Given the description of an element on the screen output the (x, y) to click on. 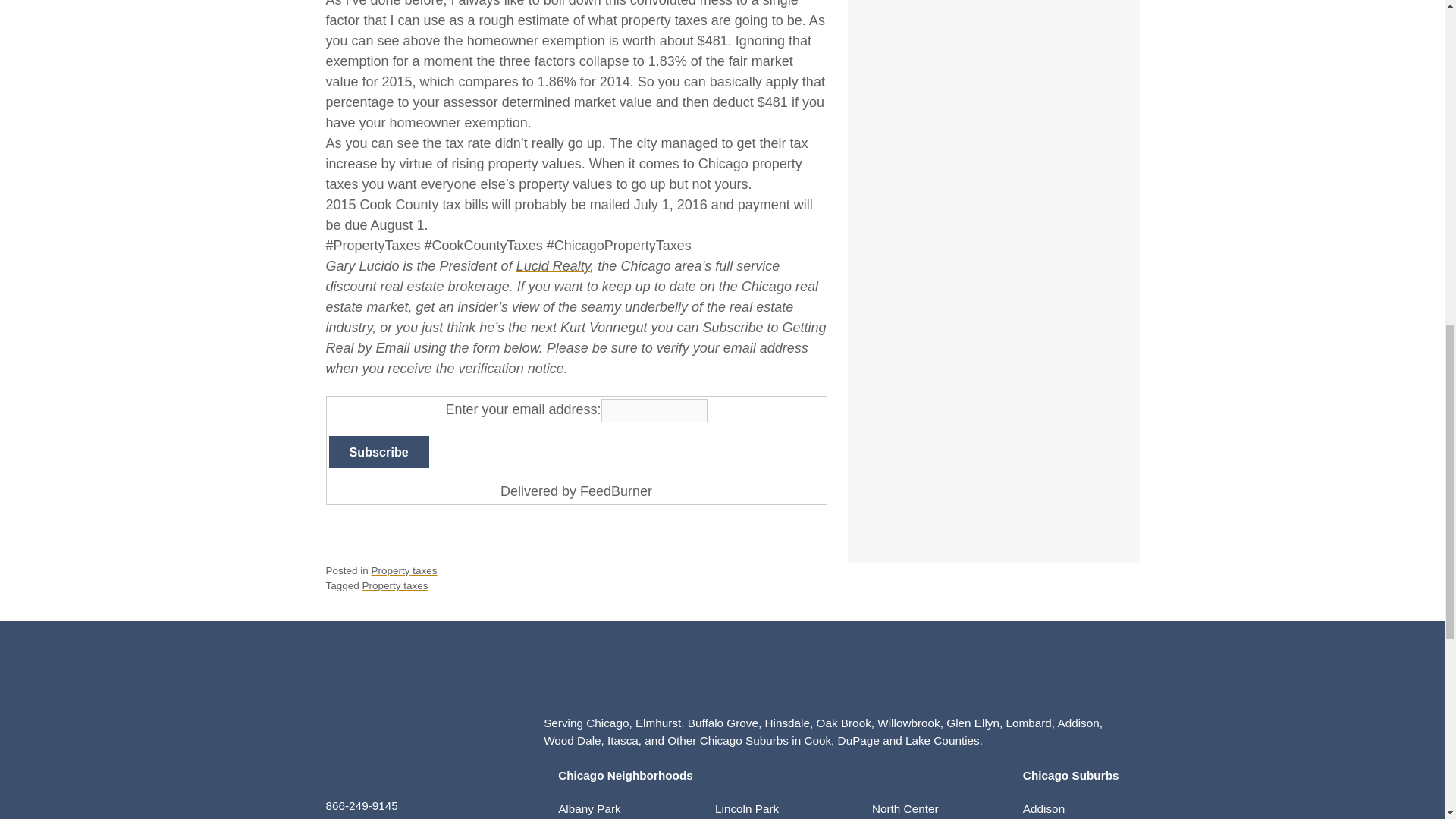
Subscribe (379, 451)
Chicago Neighborhoods (625, 775)
FeedBurner (615, 491)
Subscribe (379, 451)
Lucid Realty (553, 265)
Property taxes (404, 570)
866-249-9145 (361, 805)
Albany Park (588, 808)
Chicago full service, discount real estate broker (553, 265)
Property taxes (395, 585)
